Given the description of an element on the screen output the (x, y) to click on. 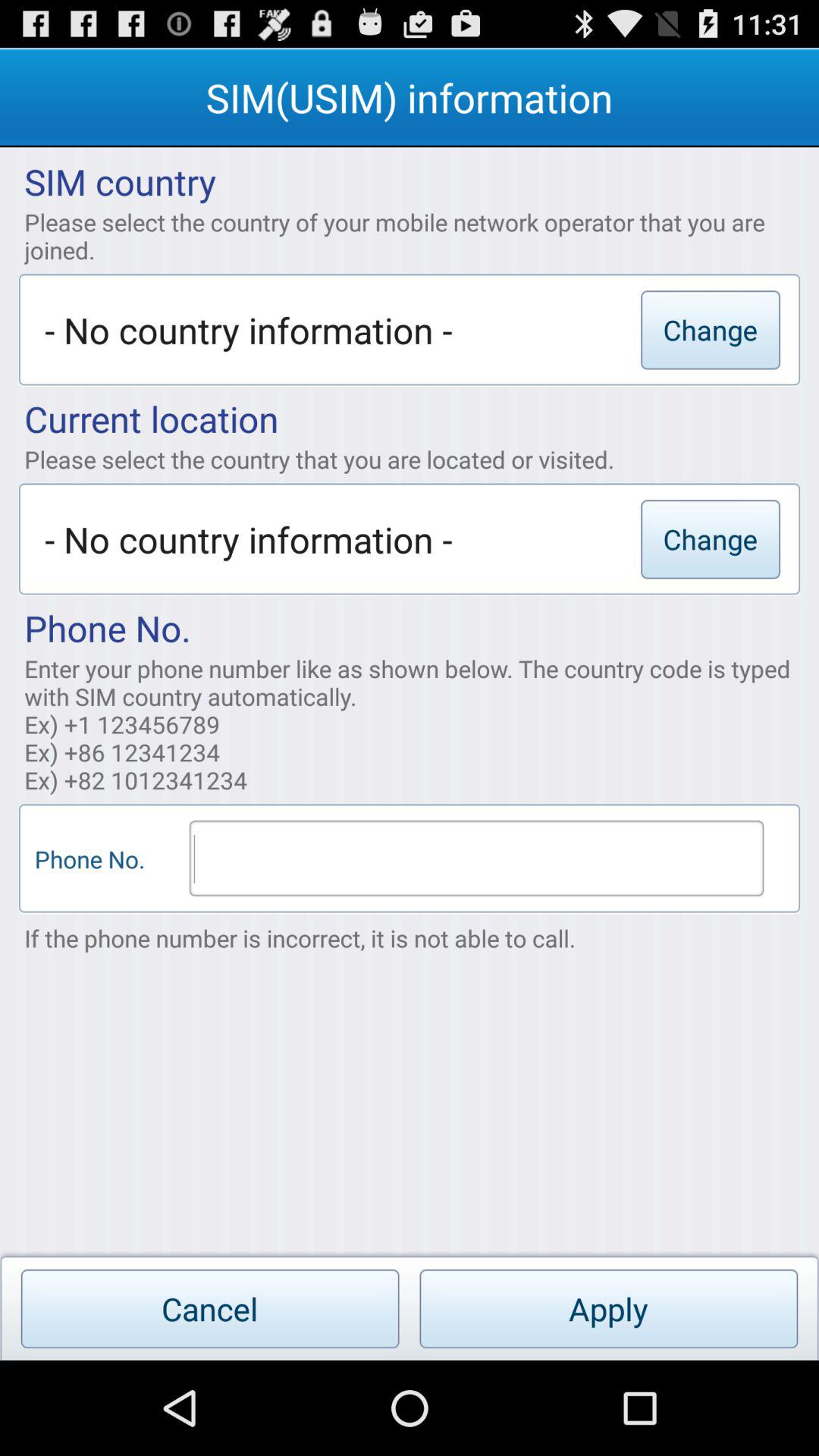
choose the app below if the phone app (210, 1309)
